Given the description of an element on the screen output the (x, y) to click on. 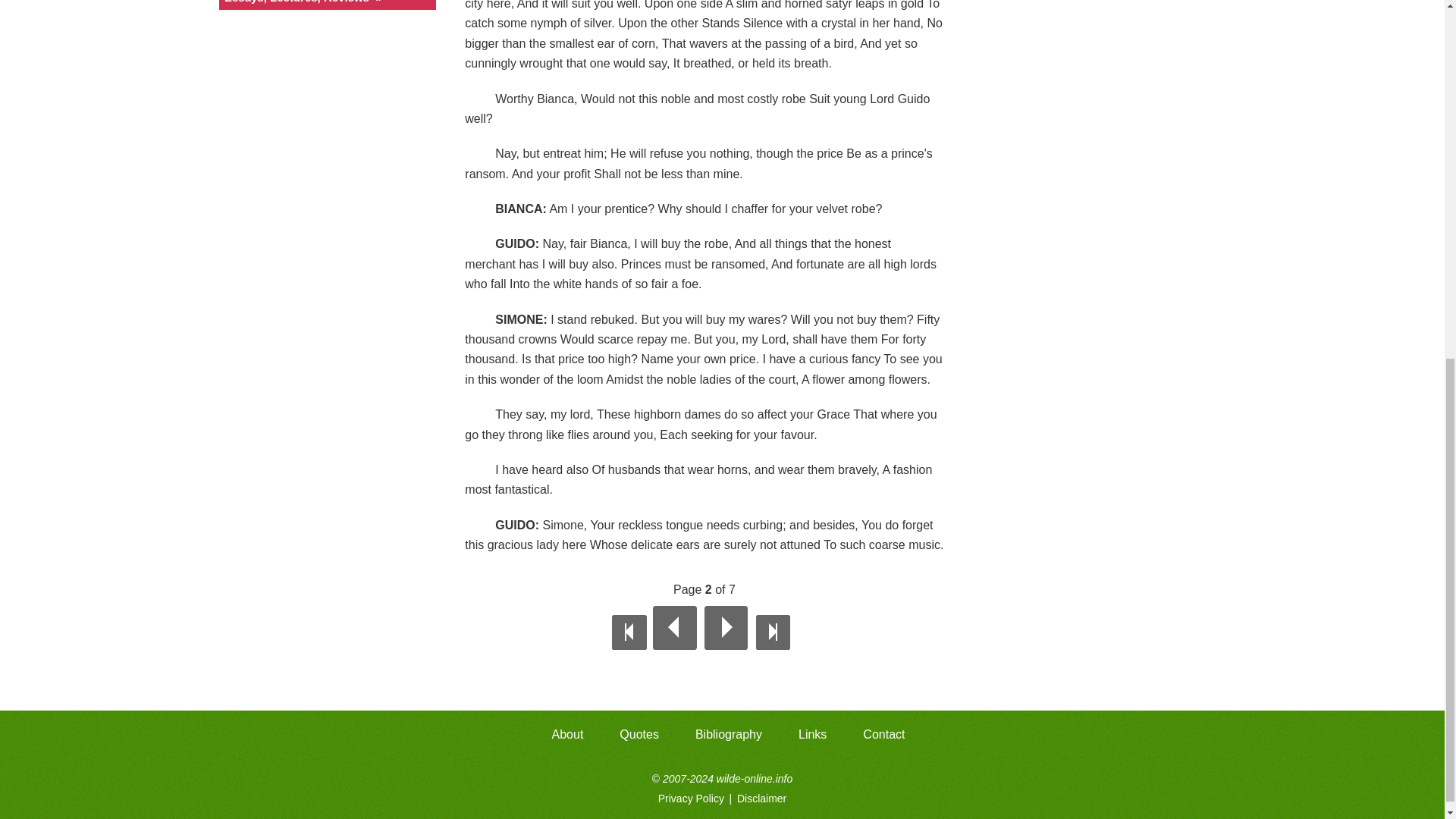
Quotes (639, 734)
Links (812, 734)
About (567, 734)
Contact (883, 734)
First page of A Florentine Tragedy (628, 632)
Privacy Policy (691, 798)
Advertisement (1087, 9)
Disclaimer (762, 798)
Bibliography (728, 734)
Last page of A Florentine Tragedy (772, 632)
